Given the description of an element on the screen output the (x, y) to click on. 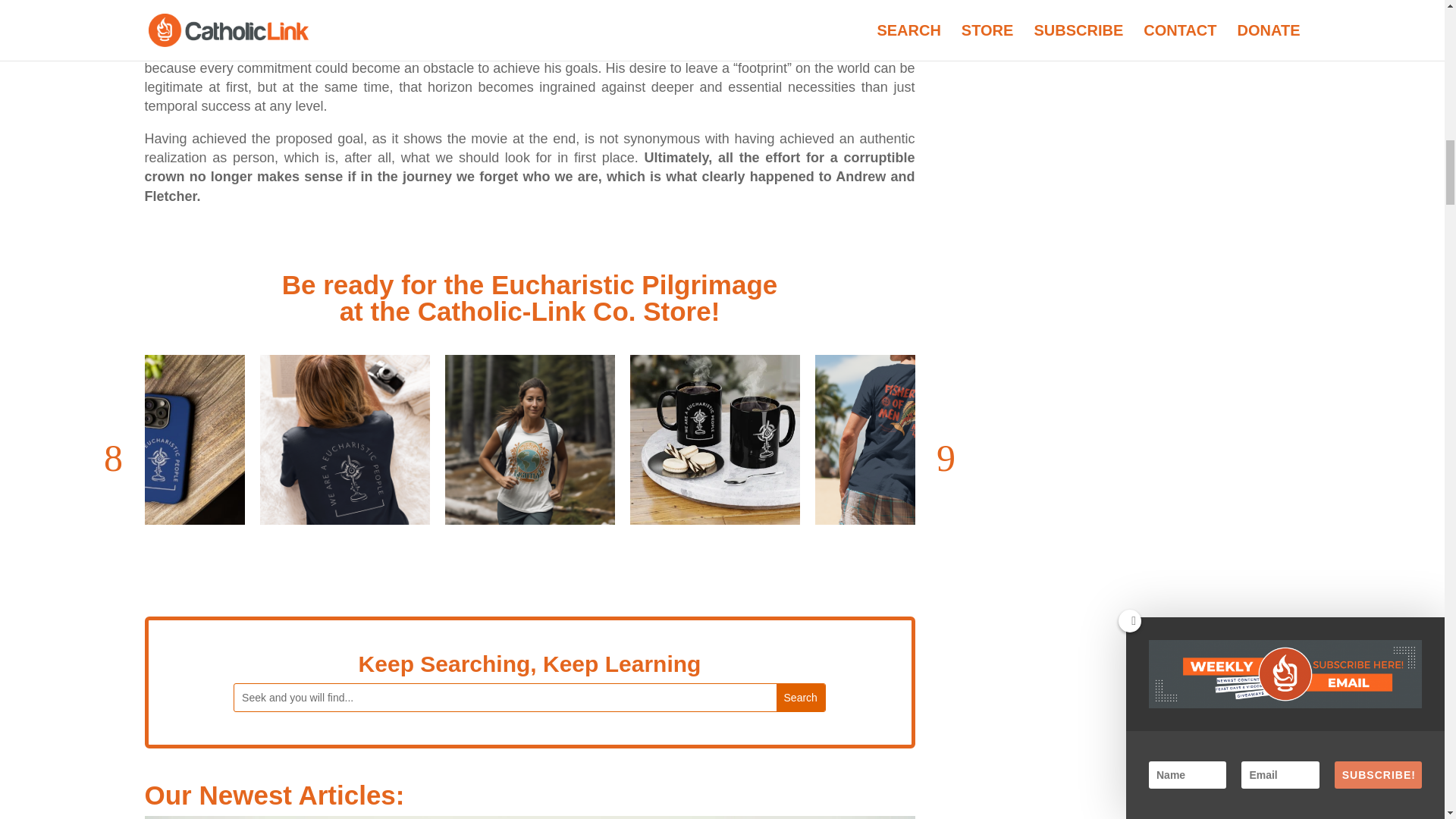
Search (800, 697)
Search (800, 697)
Search (800, 697)
